Given the description of an element on the screen output the (x, y) to click on. 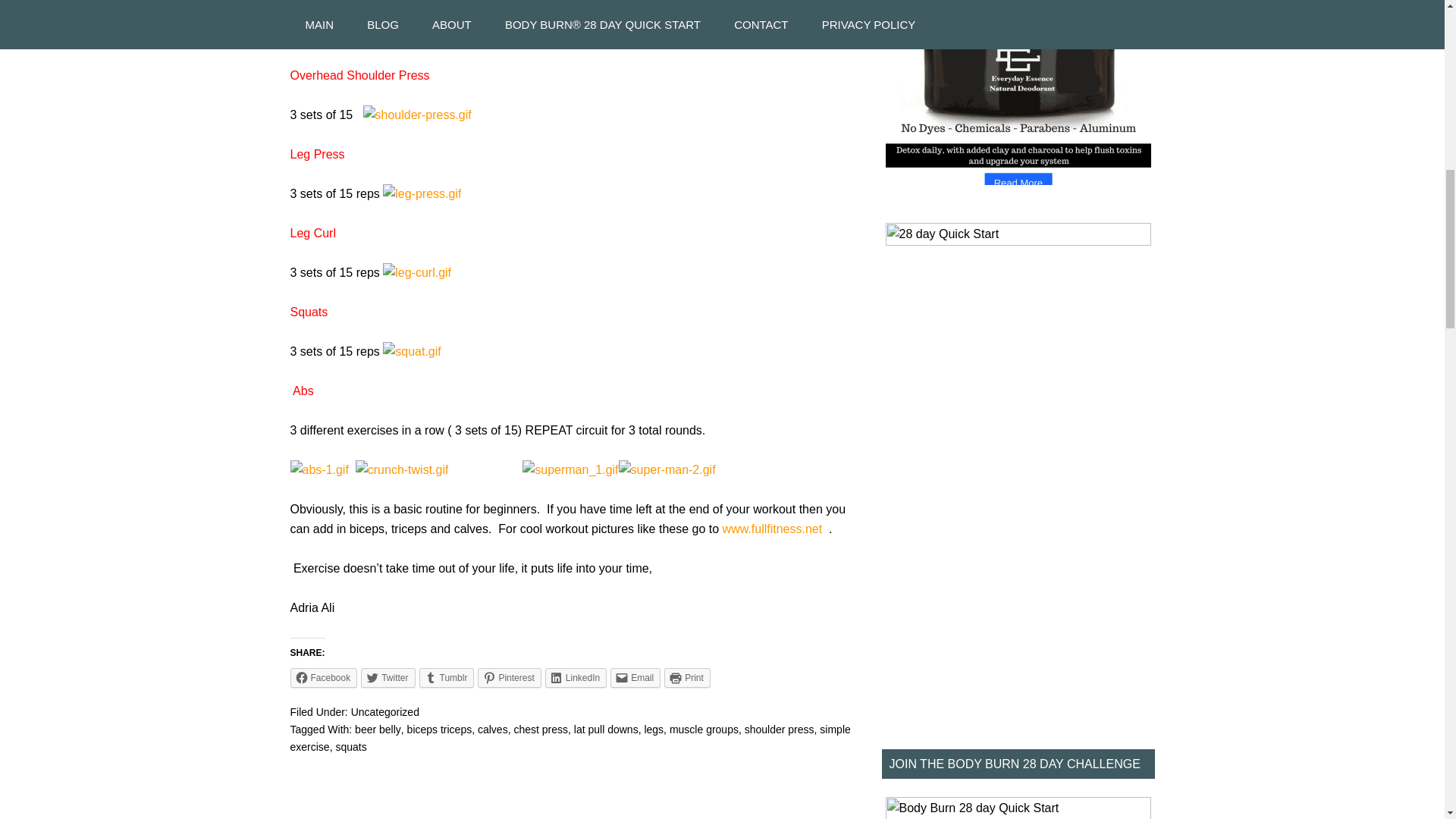
www.fullfitness.net (772, 528)
leg-curl.gif (416, 272)
Tumblr (446, 677)
Uncategorized (384, 711)
Facebook (322, 677)
Pinterest (508, 677)
squat.gif (411, 350)
shoulder-press.gif (416, 114)
abs-1.gif (318, 469)
Email (635, 677)
Twitter (387, 677)
crunch-twist.gif (401, 469)
leg-press.gif (421, 193)
Print (686, 677)
LinkedIn (575, 677)
